Given the description of an element on the screen output the (x, y) to click on. 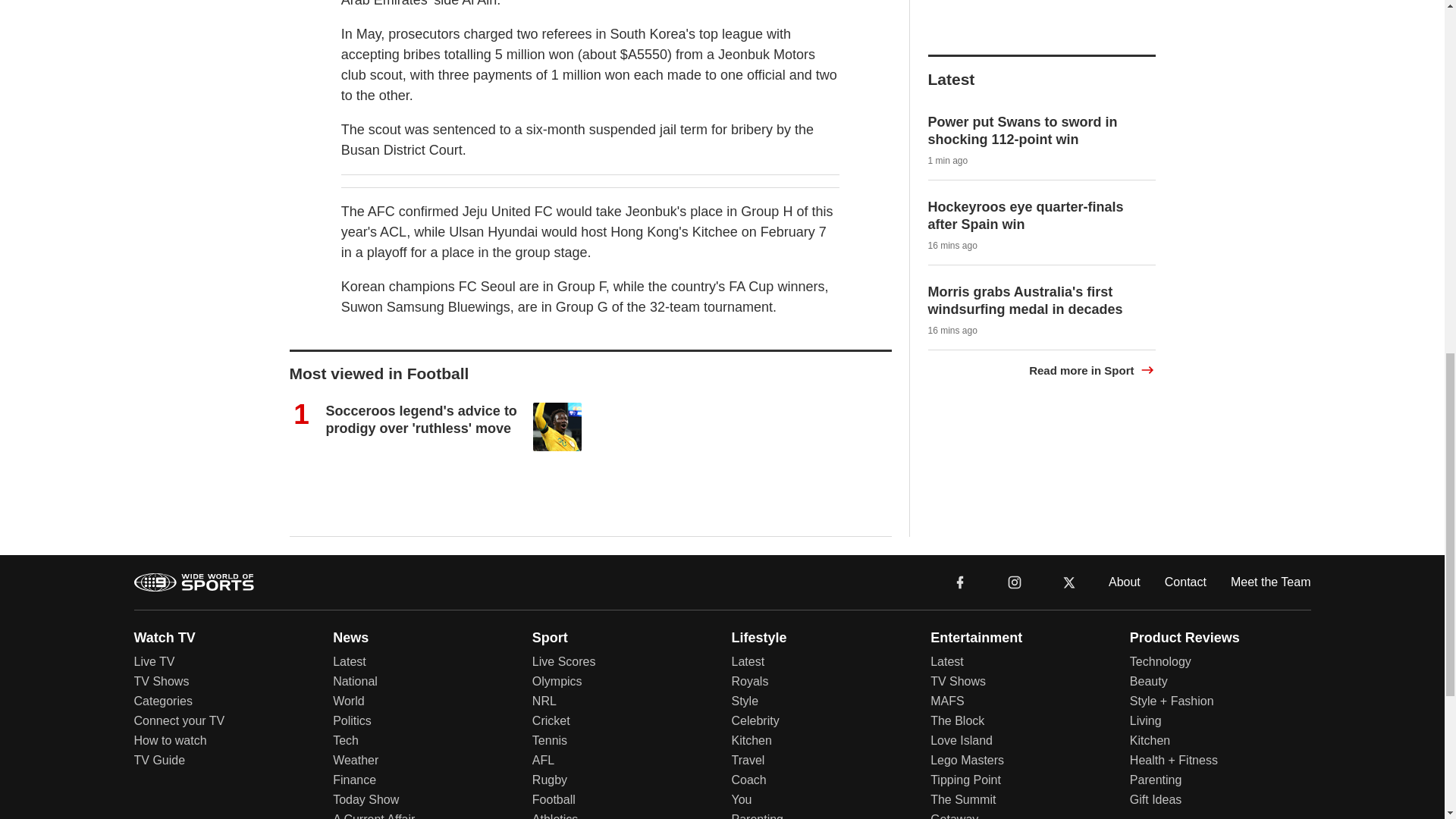
Meet the Team (1270, 581)
instagram (1013, 581)
Watch TV (164, 636)
About (1124, 581)
facebook (959, 581)
facebook (960, 581)
Socceroos legend's advice to prodigy over 'ruthless' move (421, 419)
x (1069, 581)
TV Shows (161, 680)
x (1069, 581)
facebook (959, 581)
Live TV (153, 661)
Contact (1185, 581)
x (1069, 581)
instagram (1014, 581)
